Given the description of an element on the screen output the (x, y) to click on. 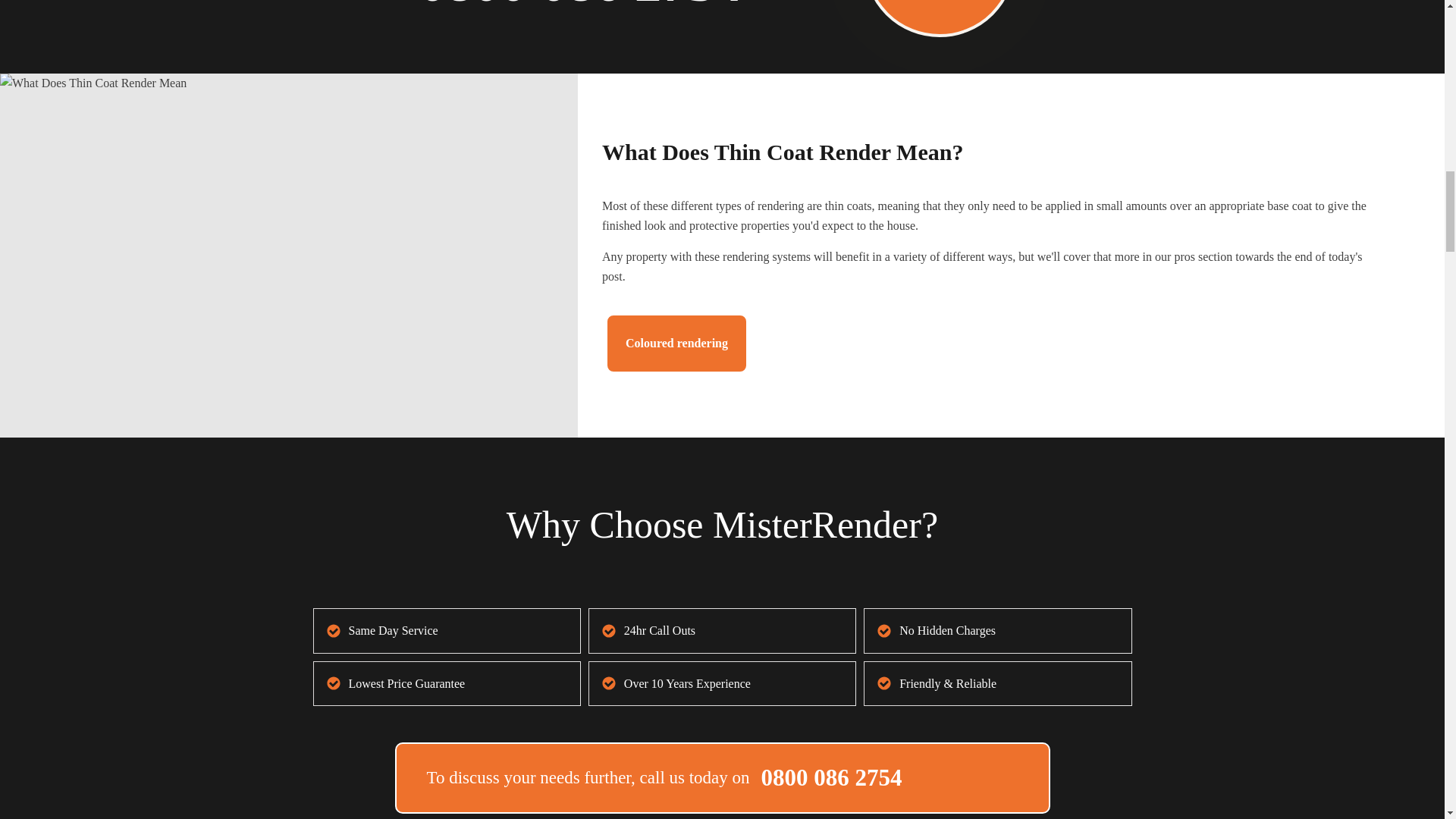
0800 086 2754 (831, 777)
0800 086 2754 (580, 13)
Coloured rendering (676, 343)
